Given the description of an element on the screen output the (x, y) to click on. 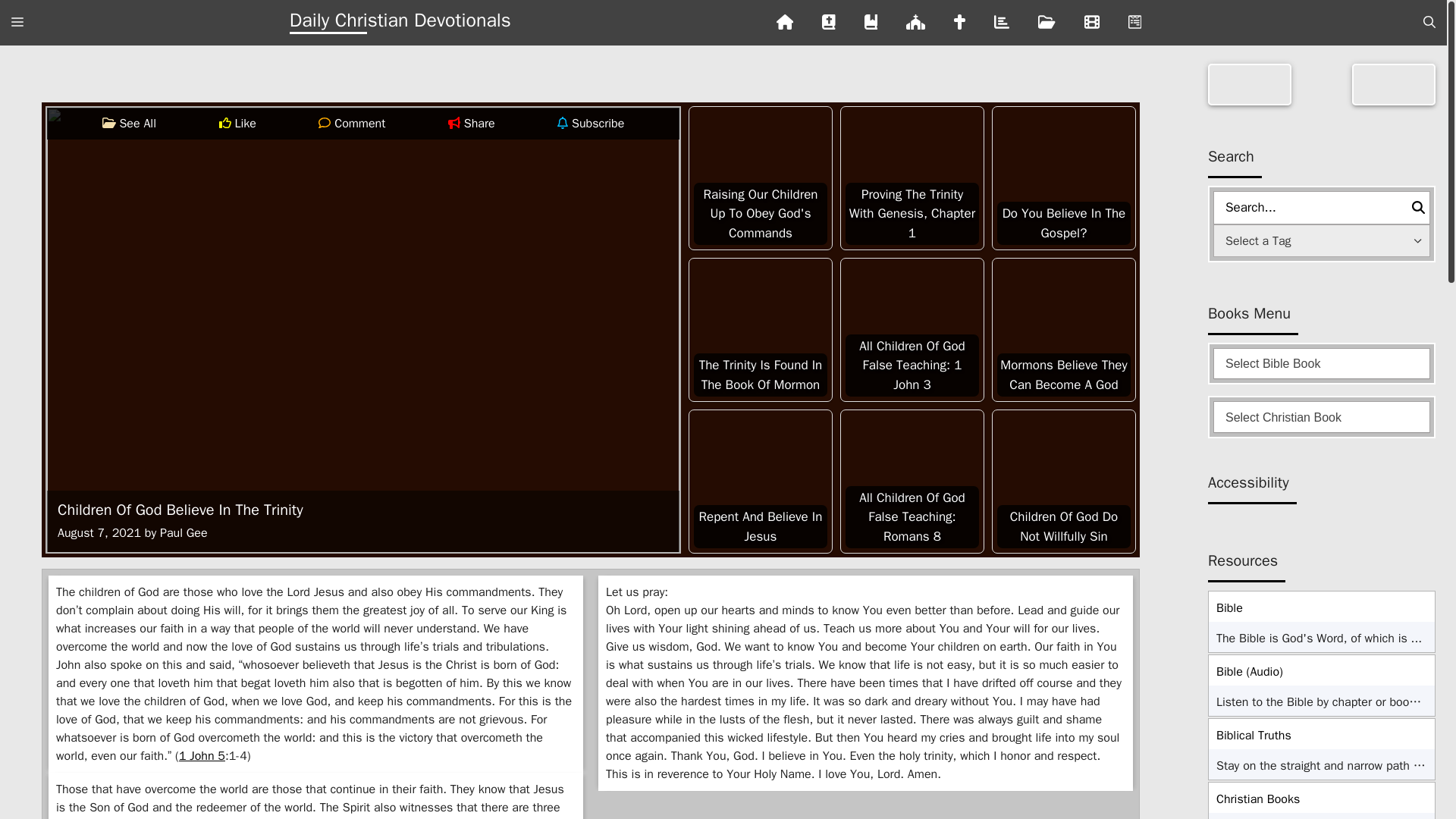
Subscribe (564, 123)
See All (110, 123)
Comments (326, 123)
Mormons Believe They Can Become A God (1064, 329)
Daily Christian Devotionals (400, 23)
All Children Of God False Teaching: 1 John 3 (911, 329)
The Trinity Is Found In The Book Of Mormon (760, 329)
Raising Our Children Up To Obey God's Commands (760, 177)
Proving The Trinity With Genesis, Chapter 1 (911, 177)
Do You Believe In The Gospel? (1064, 177)
